Given the description of an element on the screen output the (x, y) to click on. 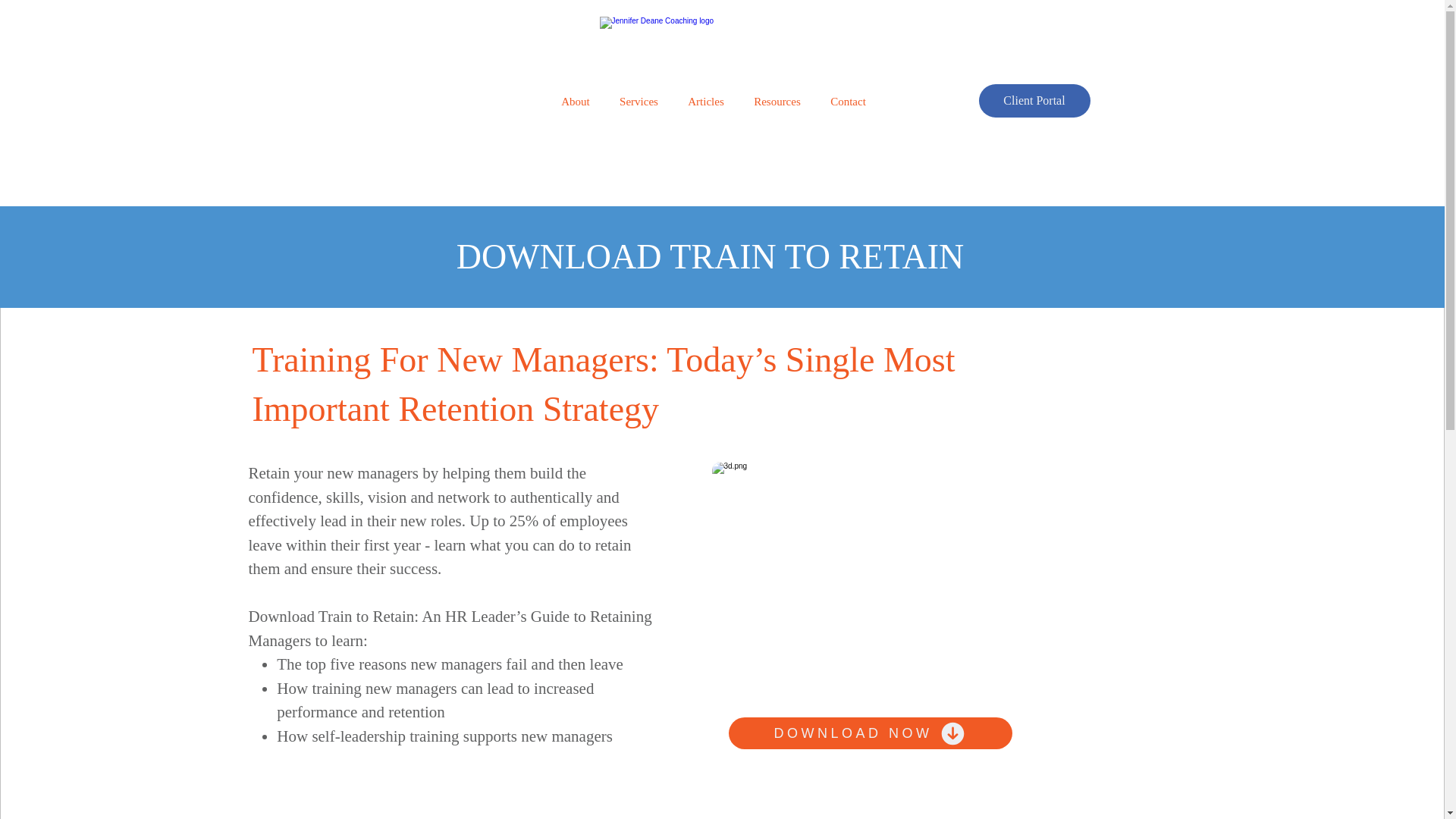
Services (638, 101)
Articles (706, 101)
About (574, 101)
DOWNLOAD NOW (869, 733)
Contact (847, 101)
Resources (776, 101)
Client Portal (1033, 100)
